Given the description of an element on the screen output the (x, y) to click on. 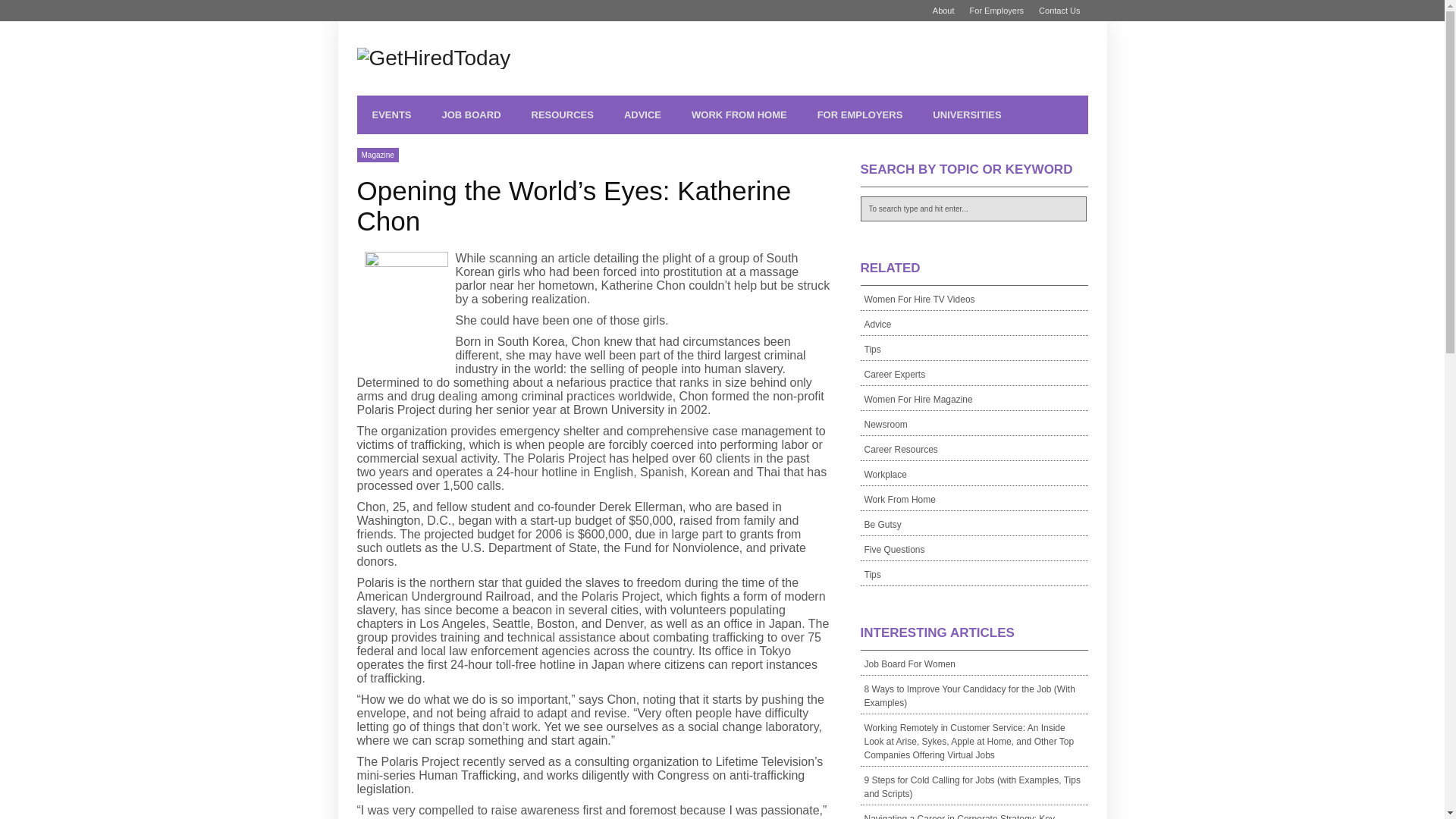
RESOURCES (562, 114)
To search type and hit enter... (973, 208)
ADVICE (642, 114)
JOB BOARD (471, 114)
Contact Us (1058, 10)
About (943, 10)
Job Board For Women (973, 662)
For Employers (997, 10)
WORK FROM HOME (739, 114)
EVENTS (391, 114)
